Given the description of an element on the screen output the (x, y) to click on. 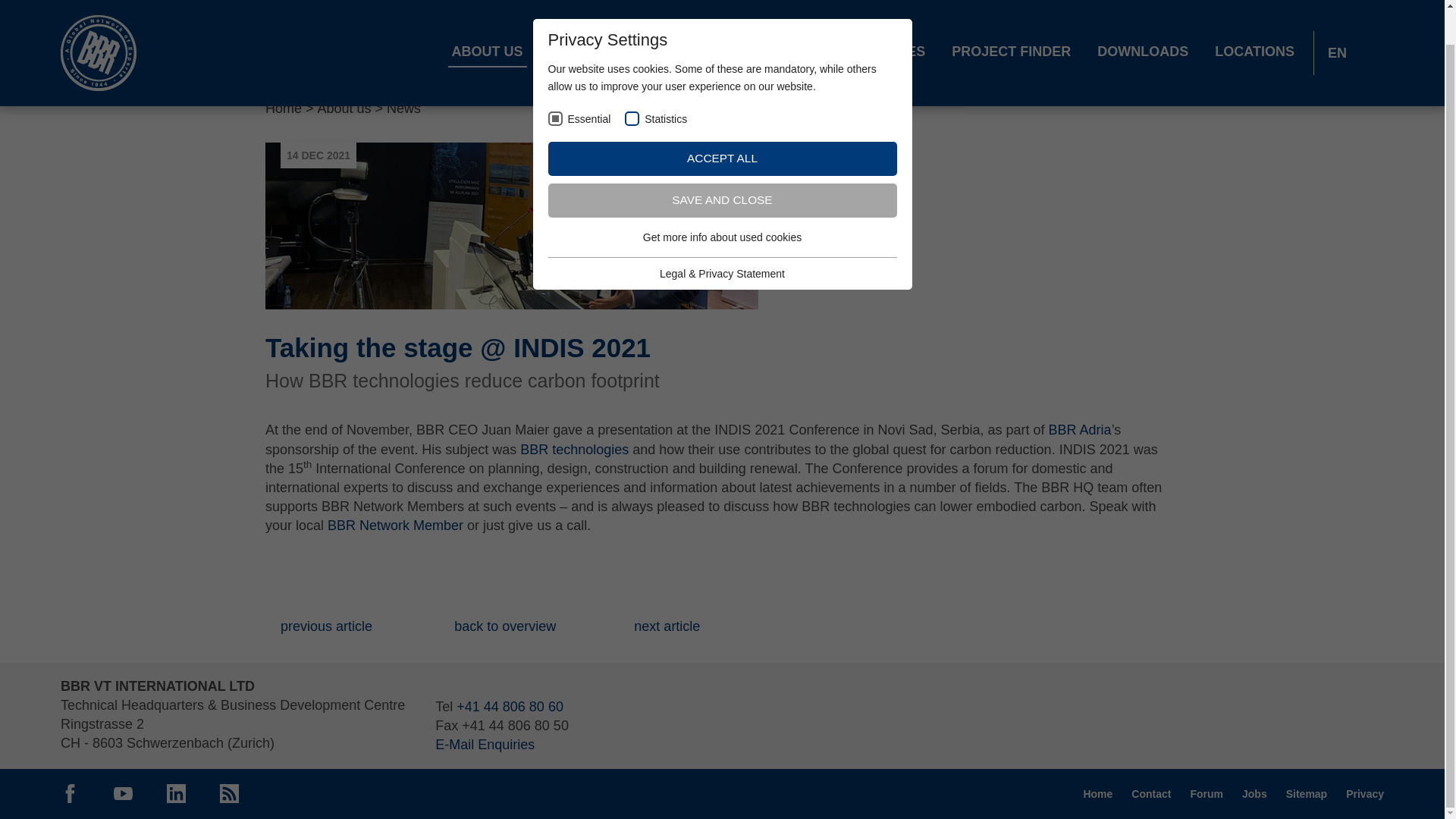
BBR FRANCHISE (606, 16)
ABOUT US (487, 16)
BBR Franchise (606, 16)
TECHNOLOGIES (870, 16)
Applications (739, 16)
BBR Network (98, 27)
APPLICATIONS (739, 16)
About us (487, 16)
